Given the description of an element on the screen output the (x, y) to click on. 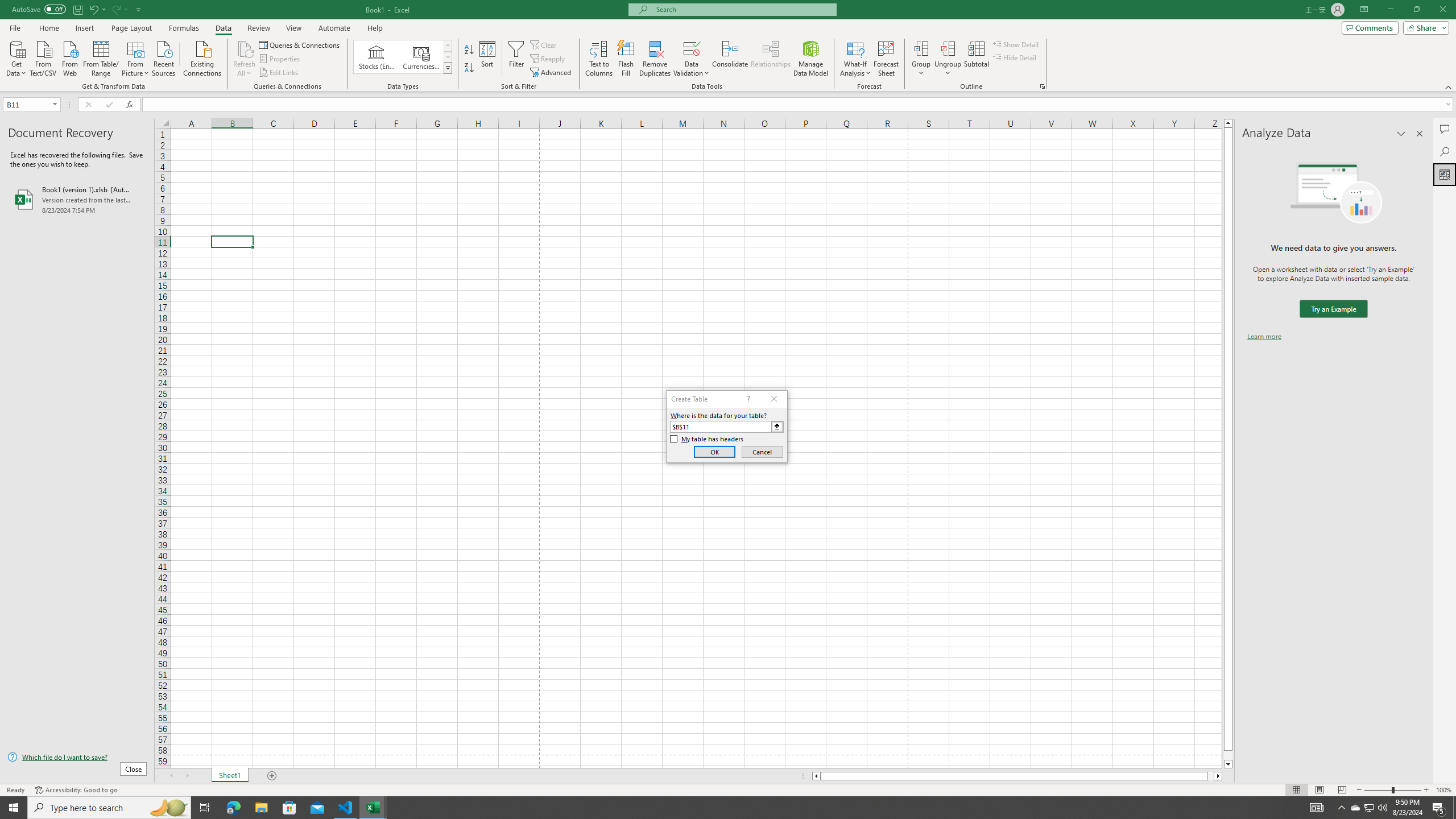
Save (77, 9)
Which file do I want to save? (77, 757)
Name Box (27, 104)
Undo (96, 9)
Row up (448, 45)
Ungroup... (947, 48)
System (6, 6)
Sort Z to A (469, 67)
Quick Access Toolbar (77, 9)
Column right (1218, 775)
Page Layout (1318, 790)
Open (54, 104)
Advanced... (551, 72)
Ungroup... (947, 58)
